Given the description of an element on the screen output the (x, y) to click on. 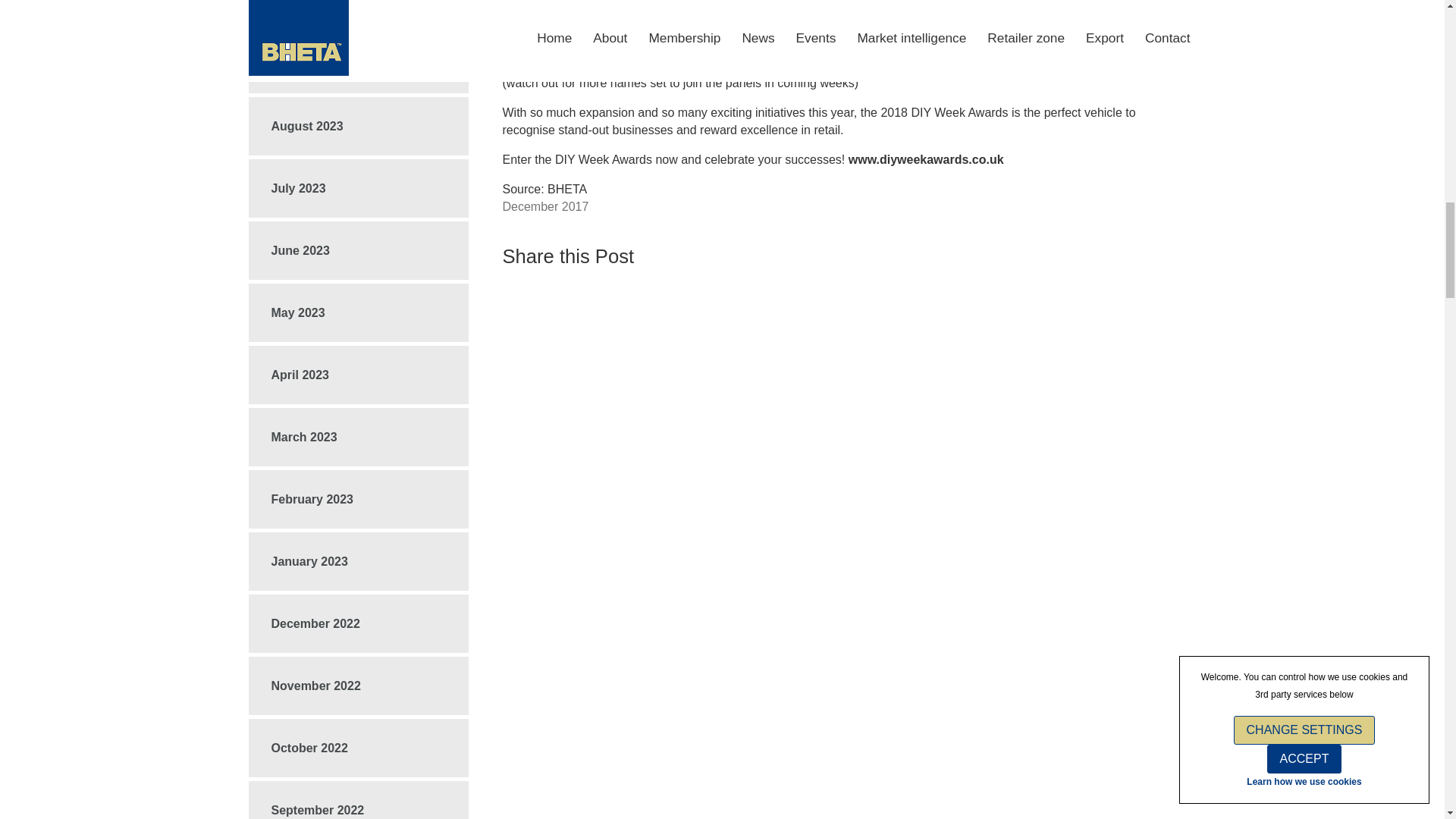
October 2023 (358, 9)
September 2023 (358, 63)
August 2023 (358, 126)
